Given the description of an element on the screen output the (x, y) to click on. 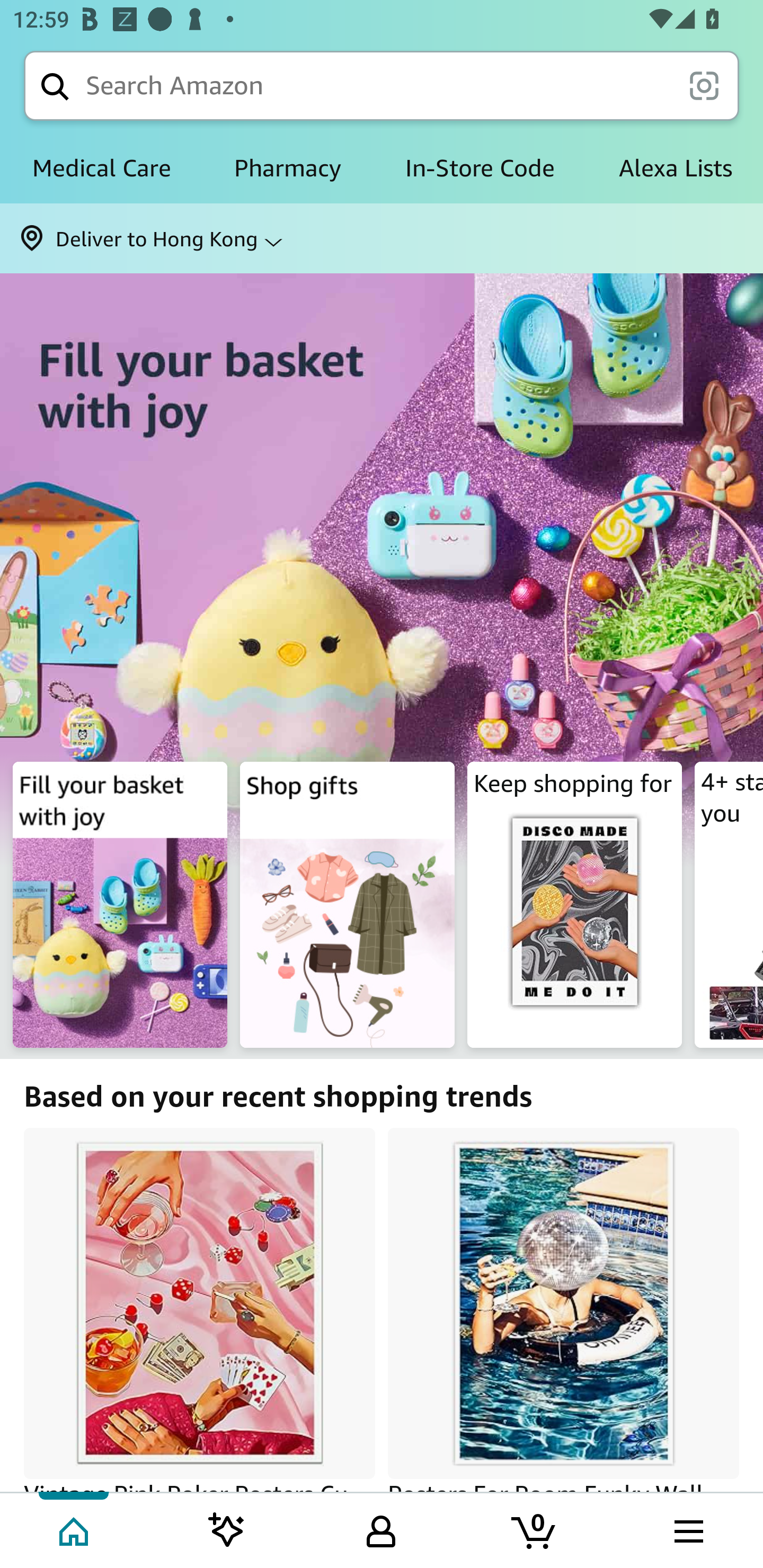
Search Search Search Amazon scan it (381, 85)
scan it (704, 85)
Medical Care (101, 168)
Pharmacy (287, 168)
In-Store Code (479, 168)
Alexa Lists (674, 168)
Deliver to Hong Kong ⌵ (381, 237)
Fill your basket with joy (381, 606)
Home Tab 1 of 5 (75, 1529)
Inspire feed Tab 2 of 5 (227, 1529)
Your Amazon.com Tab 3 of 5 (380, 1529)
Cart 0 item Tab 4 of 5 0 (534, 1529)
Browse menu Tab 5 of 5 (687, 1529)
